Given the description of an element on the screen output the (x, y) to click on. 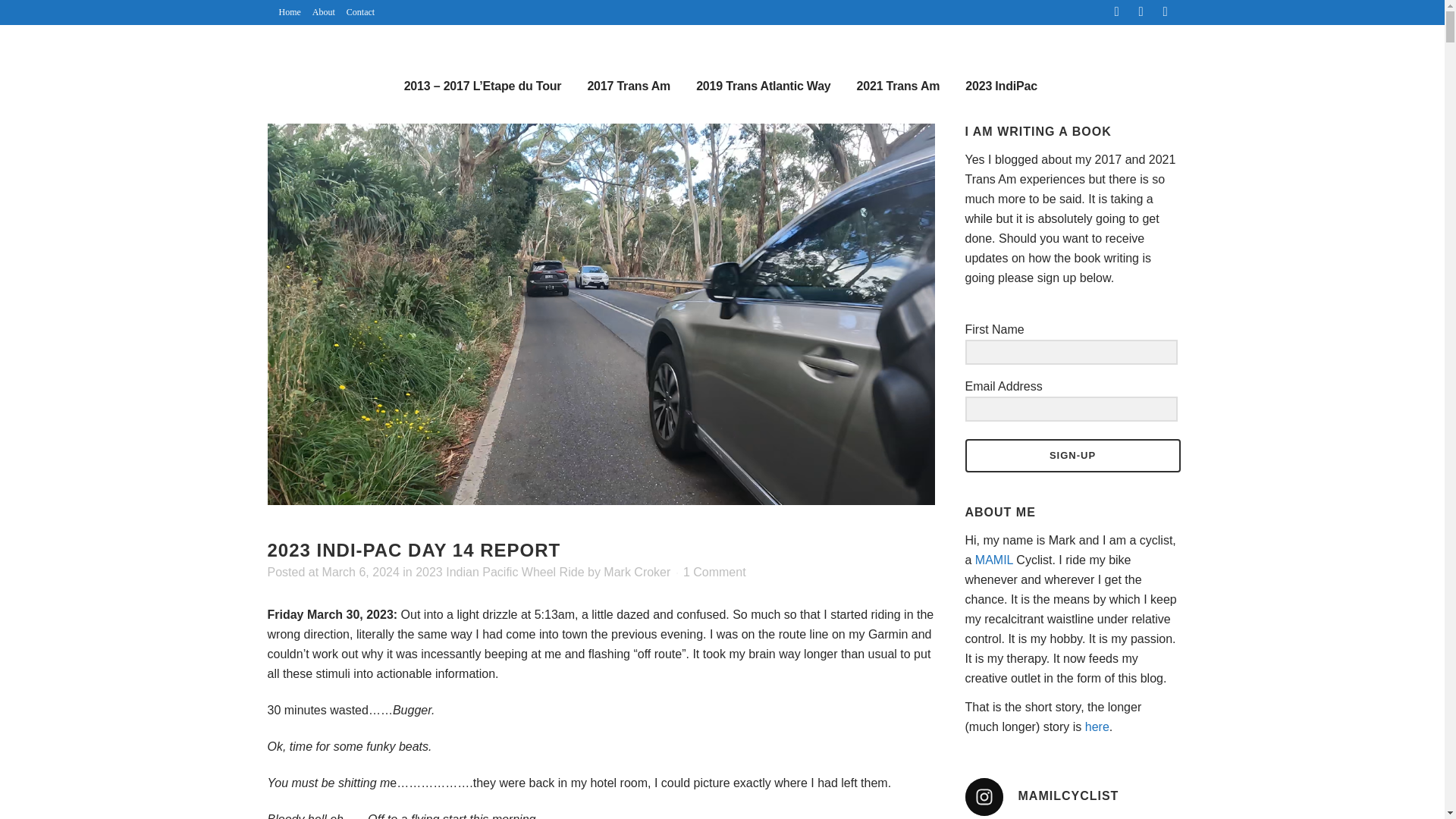
2021-Trans-America-Bike-Race (898, 86)
2017-Trans-America-Bike-Race (627, 86)
SIGN-UP (1071, 455)
MAMILCYCLIST (1069, 796)
here (1096, 726)
Mark Croker (636, 571)
Home (282, 12)
2019-trans-atlantic-way (762, 86)
2017 Trans Am (627, 86)
1 Comment (713, 571)
